Given the description of an element on the screen output the (x, y) to click on. 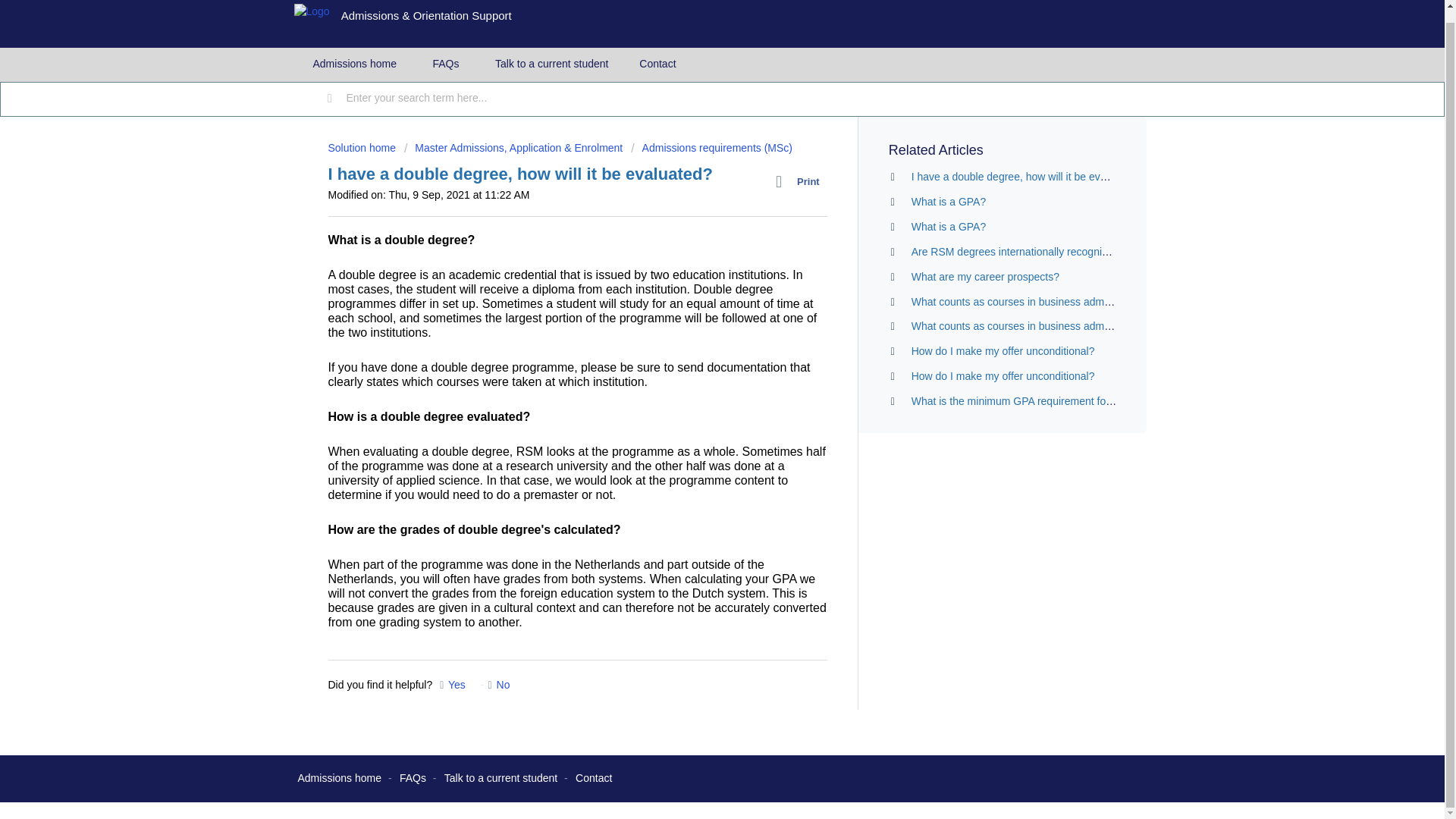
I have a double degree, how will it be evaluated? (1026, 176)
How do I make my offer unconditional? (1002, 350)
What is a GPA? (949, 201)
Are RSM degrees internationally recognised? (1018, 251)
Print this Article (801, 181)
Contact (657, 63)
Admissions home (339, 777)
What are my career prospects? (985, 276)
What counts as courses in business administration? (1033, 326)
What counts as courses in business administration? (1033, 301)
FAQs (412, 777)
FAQs (446, 63)
Talk to a current student (500, 777)
Contact (593, 777)
What is a GPA? (949, 226)
